Given the description of an element on the screen output the (x, y) to click on. 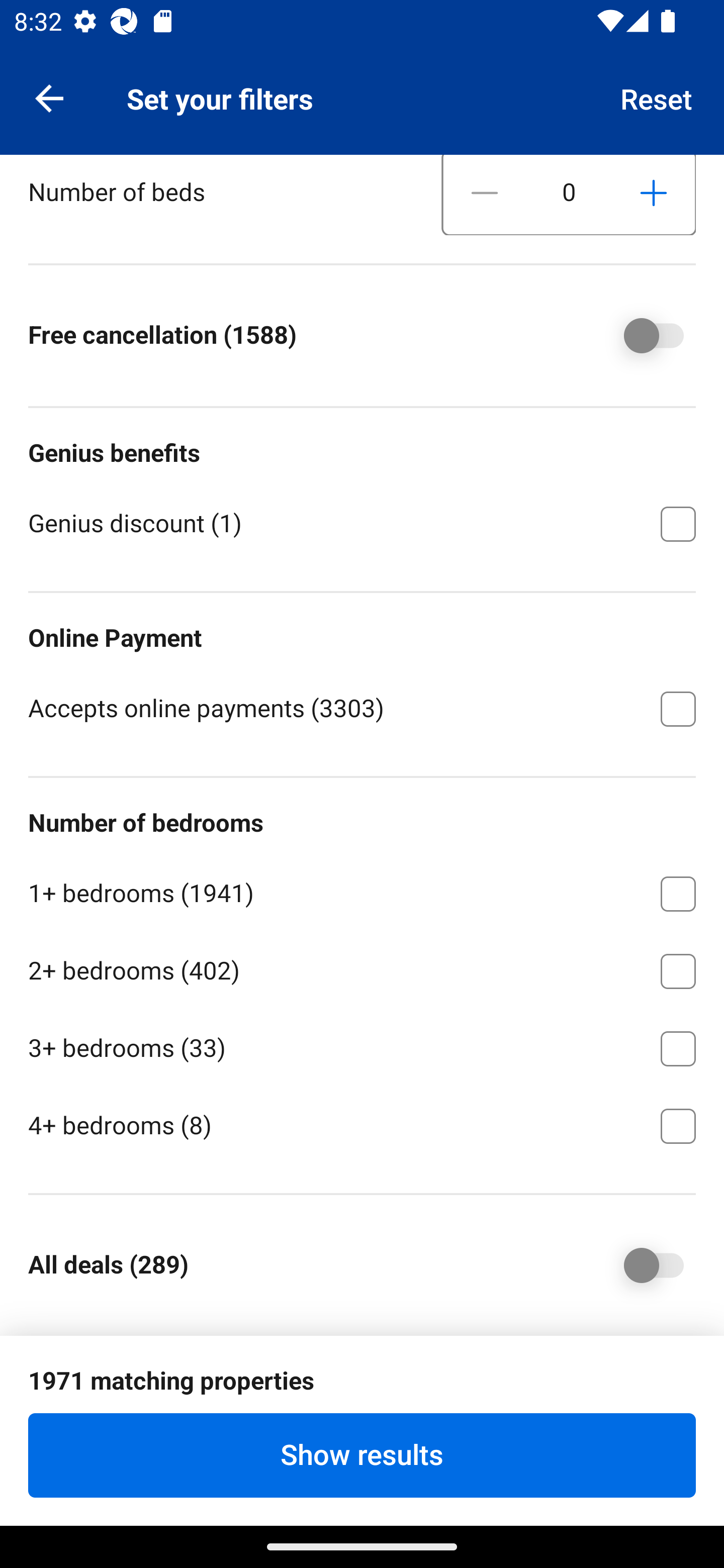
Navigate up (49, 97)
Reset (656, 97)
Decrease (484, 195)
Increase (653, 195)
Free cancellation ⁦(1588) (639, 335)
Genius discount ⁦(1) (361, 521)
Accepts online payments ⁦(3303) (361, 706)
1+ bedrooms ⁦(1941) (361, 890)
2+ bedrooms ⁦(402) (361, 967)
3+ bedrooms ⁦(33) (361, 1044)
4+ bedrooms ⁦(8) (361, 1124)
All deals ⁦(289) (639, 1265)
Show results (361, 1454)
